Given the description of an element on the screen output the (x, y) to click on. 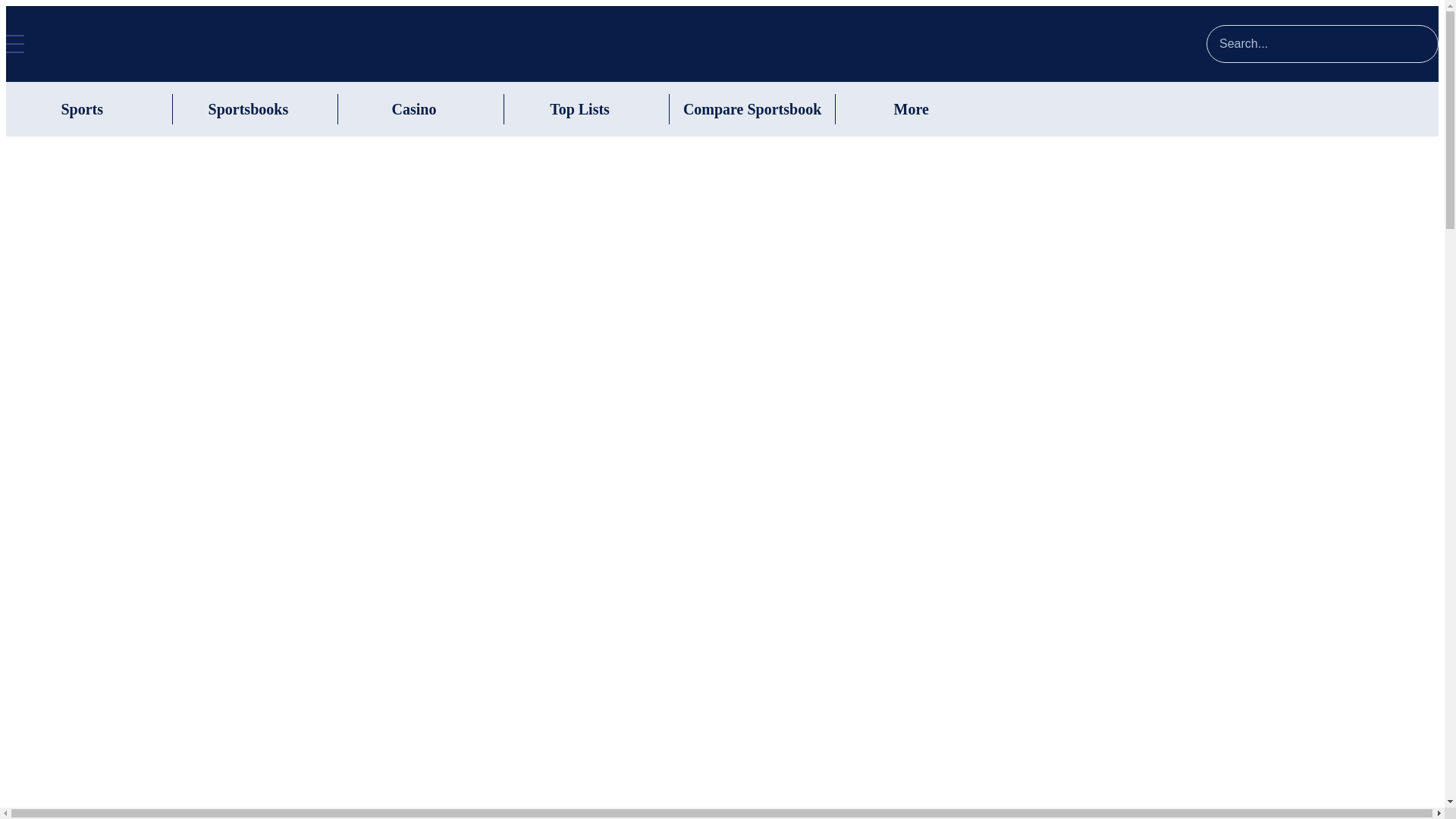
Sports (82, 108)
Sportsbooks (248, 108)
Casino (413, 108)
Top Lists (580, 108)
